Given the description of an element on the screen output the (x, y) to click on. 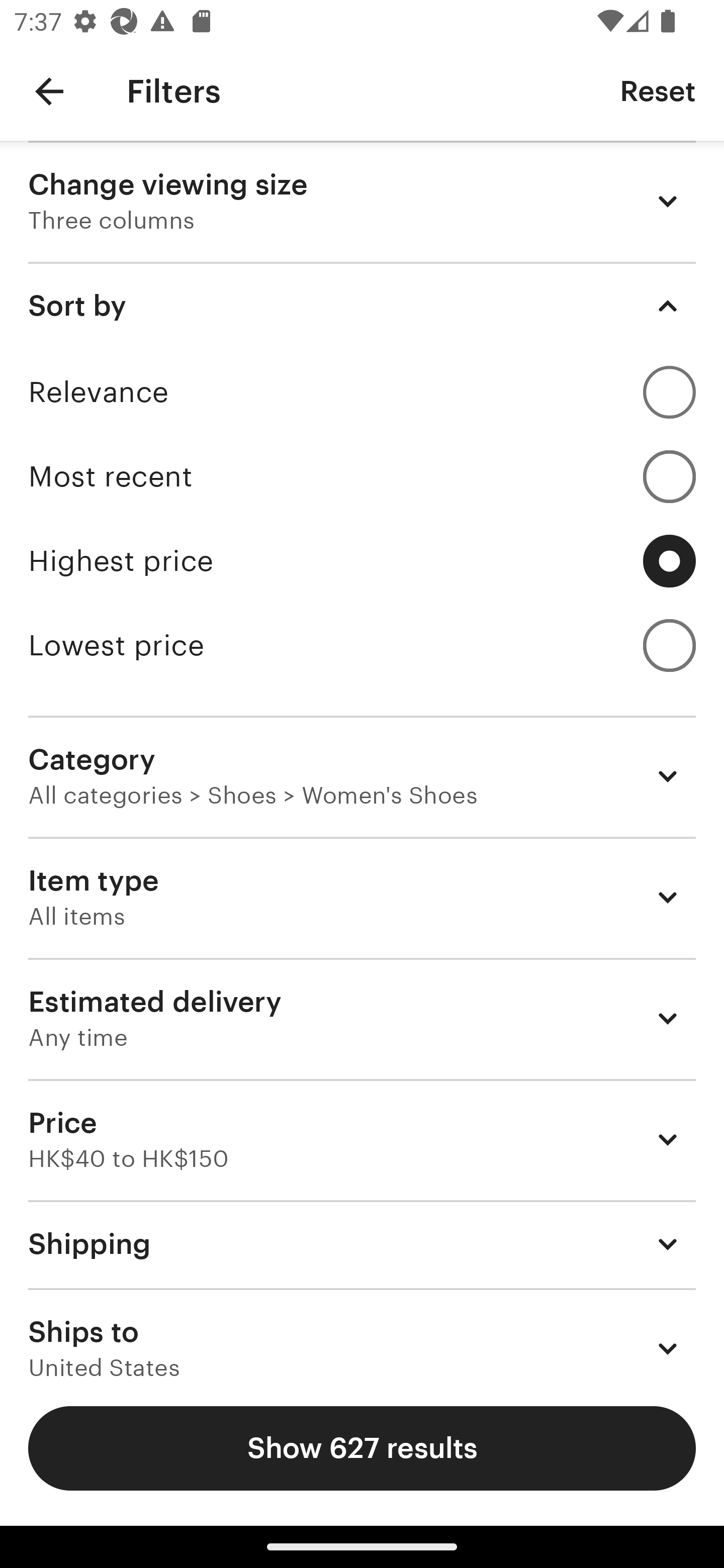
Navigate up (49, 91)
Reset (657, 90)
Change viewing size Three columns (362, 201)
Sort by (362, 305)
Relevance (362, 391)
Most recent (362, 476)
Highest price (362, 561)
Lowest price (362, 644)
Category All categories > Shoes > Women's Shoes (362, 776)
Item type All items (362, 897)
Estimated delivery Any time (362, 1018)
Price HK$40 to HK$150 (362, 1138)
Shipping (362, 1243)
Ships to United States (362, 1332)
Show 627 results Show 629 results (361, 1448)
